Given the description of an element on the screen output the (x, y) to click on. 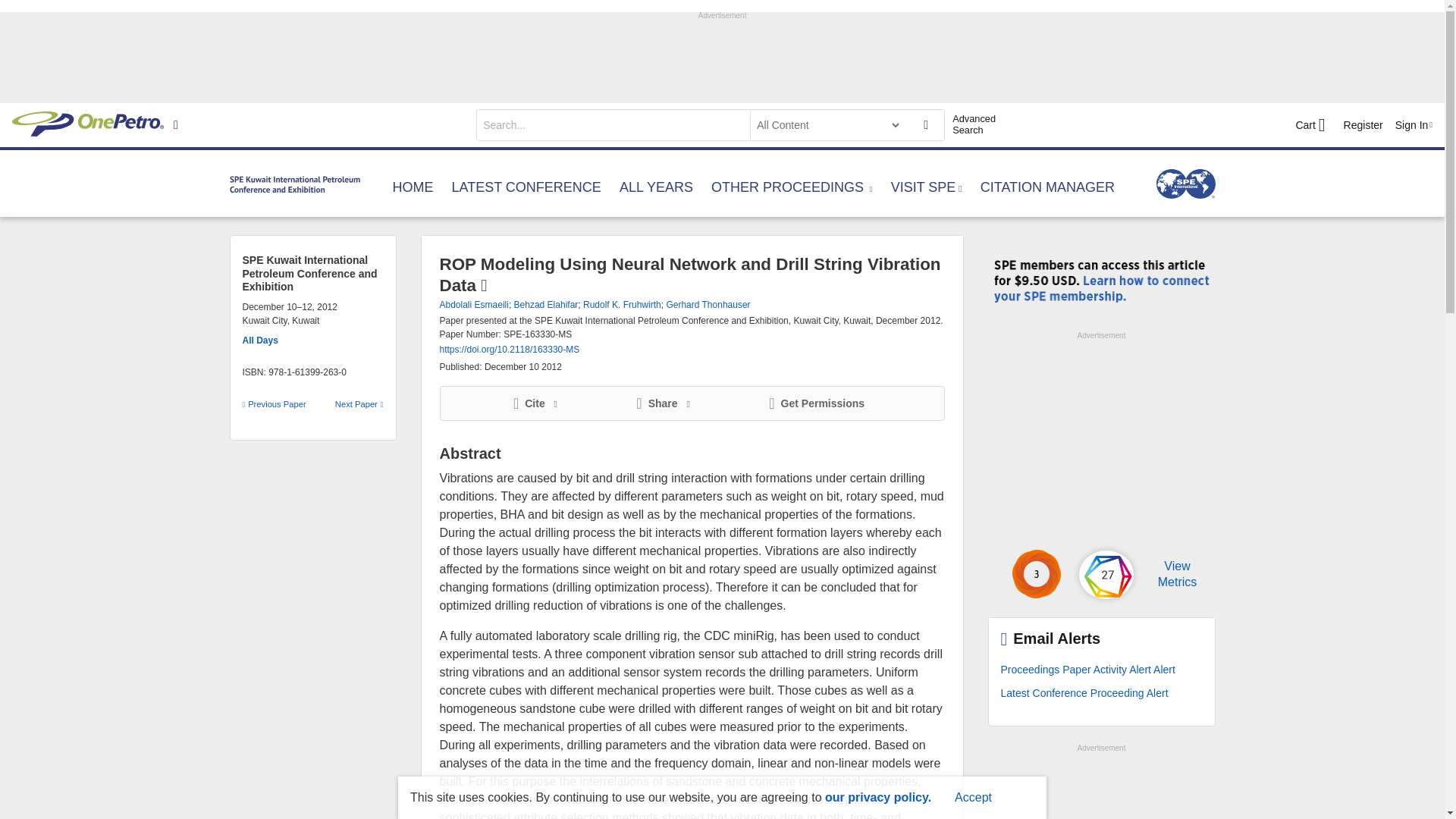
Sign In (1413, 124)
HOME (413, 189)
CITATION MANAGER (1047, 189)
VISIT SPE (926, 189)
OTHER PROCEEDINGS (791, 189)
ALL YEARS (656, 189)
3rd party ad content (1100, 787)
3rd party ad content (1100, 437)
search input (611, 124)
3rd party ad content (721, 56)
Advanced Search (979, 124)
Cart (1309, 125)
LATEST CONFERENCE (526, 189)
Register (1363, 124)
